Given the description of an element on the screen output the (x, y) to click on. 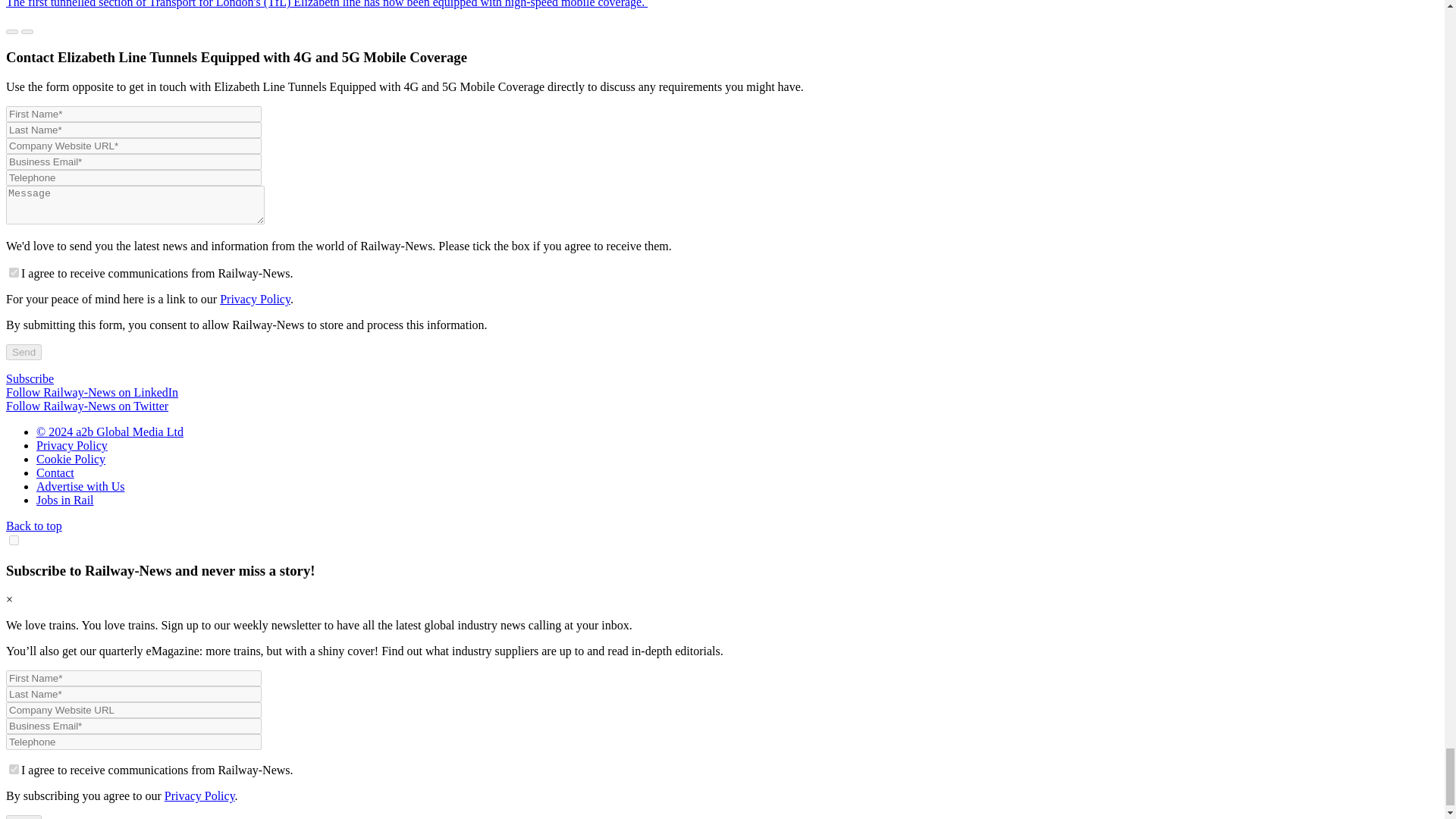
Send (23, 351)
1 (13, 272)
1 (13, 768)
